Given the description of an element on the screen output the (x, y) to click on. 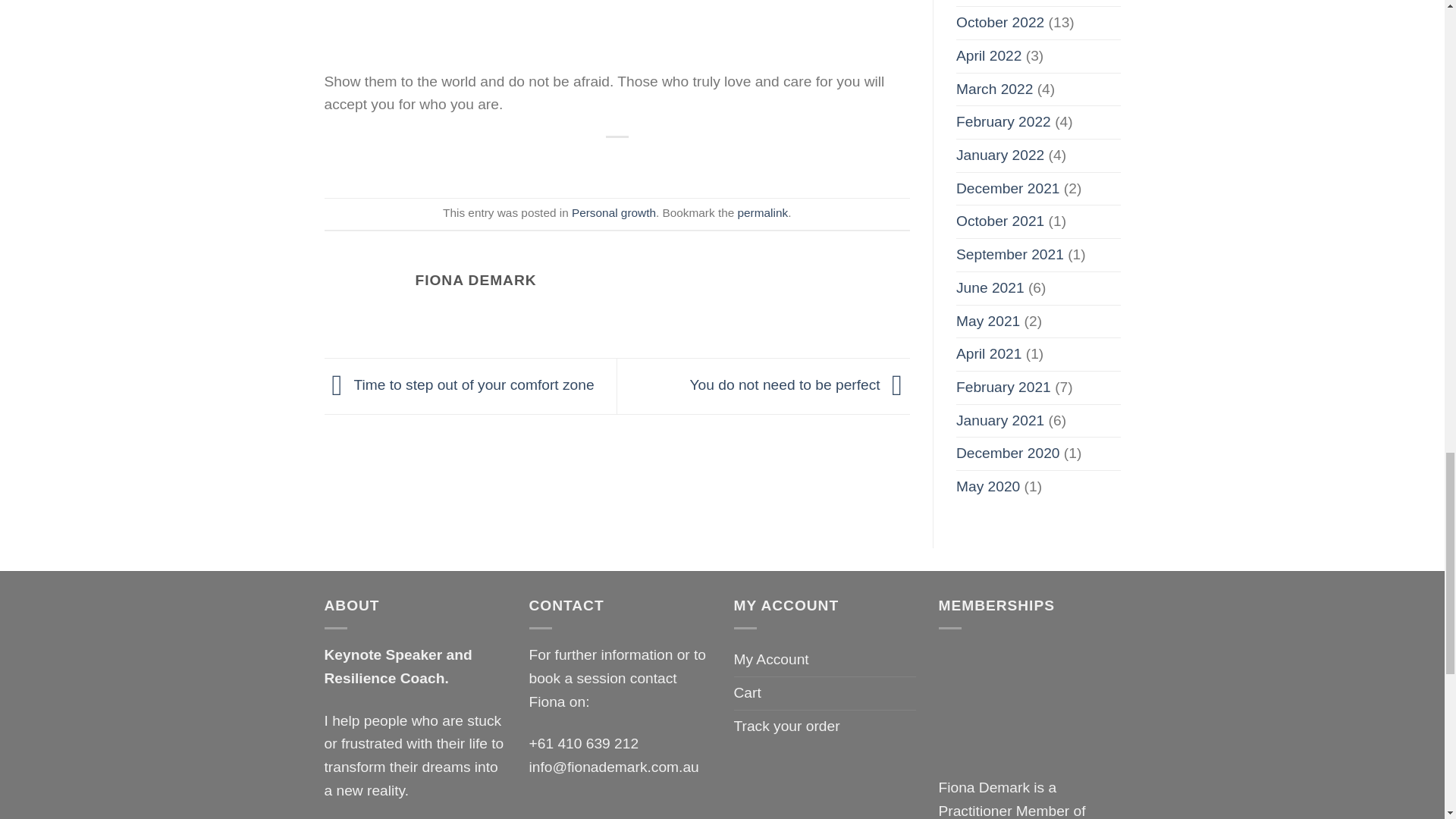
Time to step out of your comfort zone (459, 384)
Personal growth (614, 212)
permalink (763, 212)
Permalink to Be Yourself (763, 212)
